Given the description of an element on the screen output the (x, y) to click on. 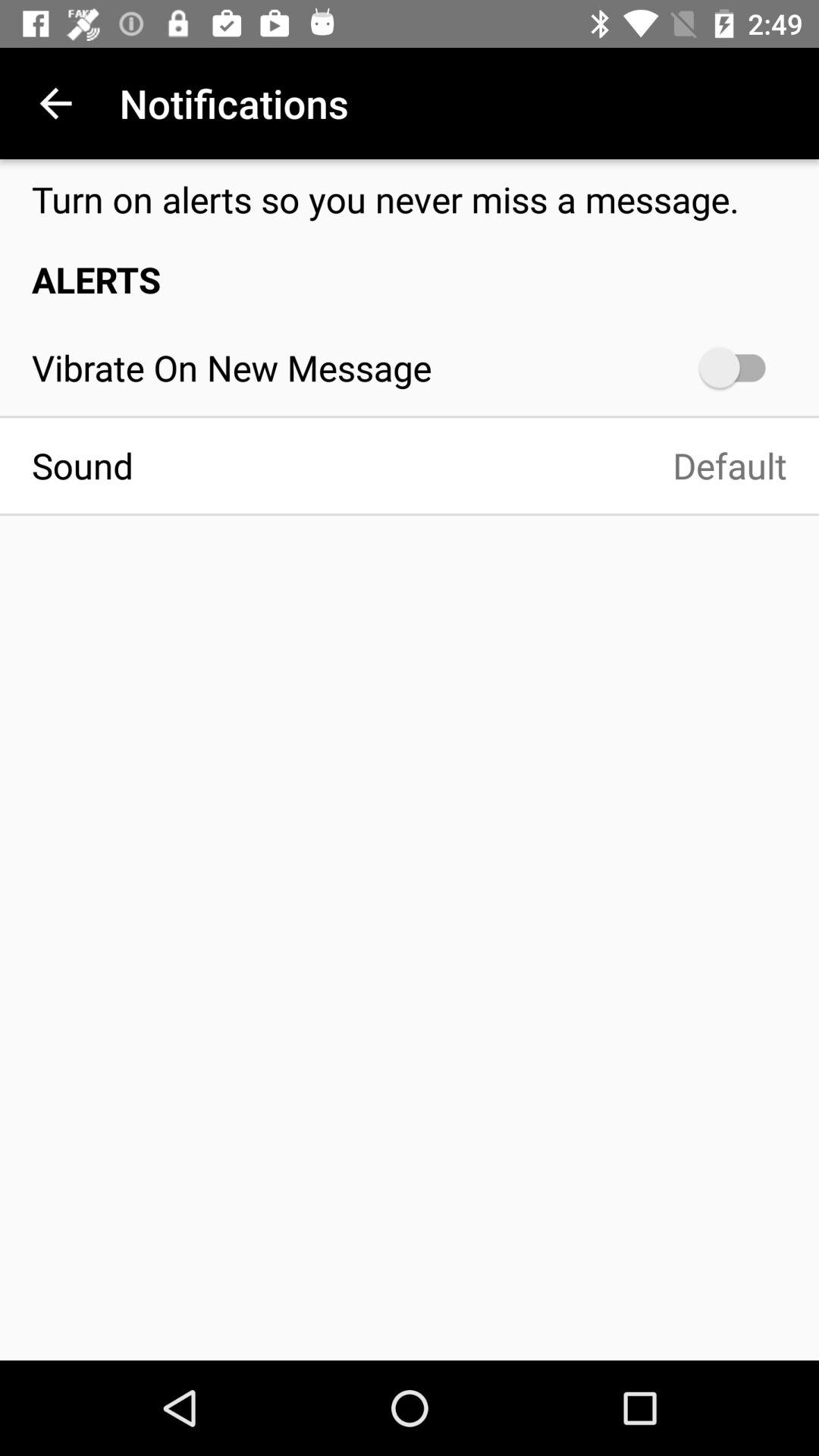
choose the icon at the top right corner (739, 367)
